Given the description of an element on the screen output the (x, y) to click on. 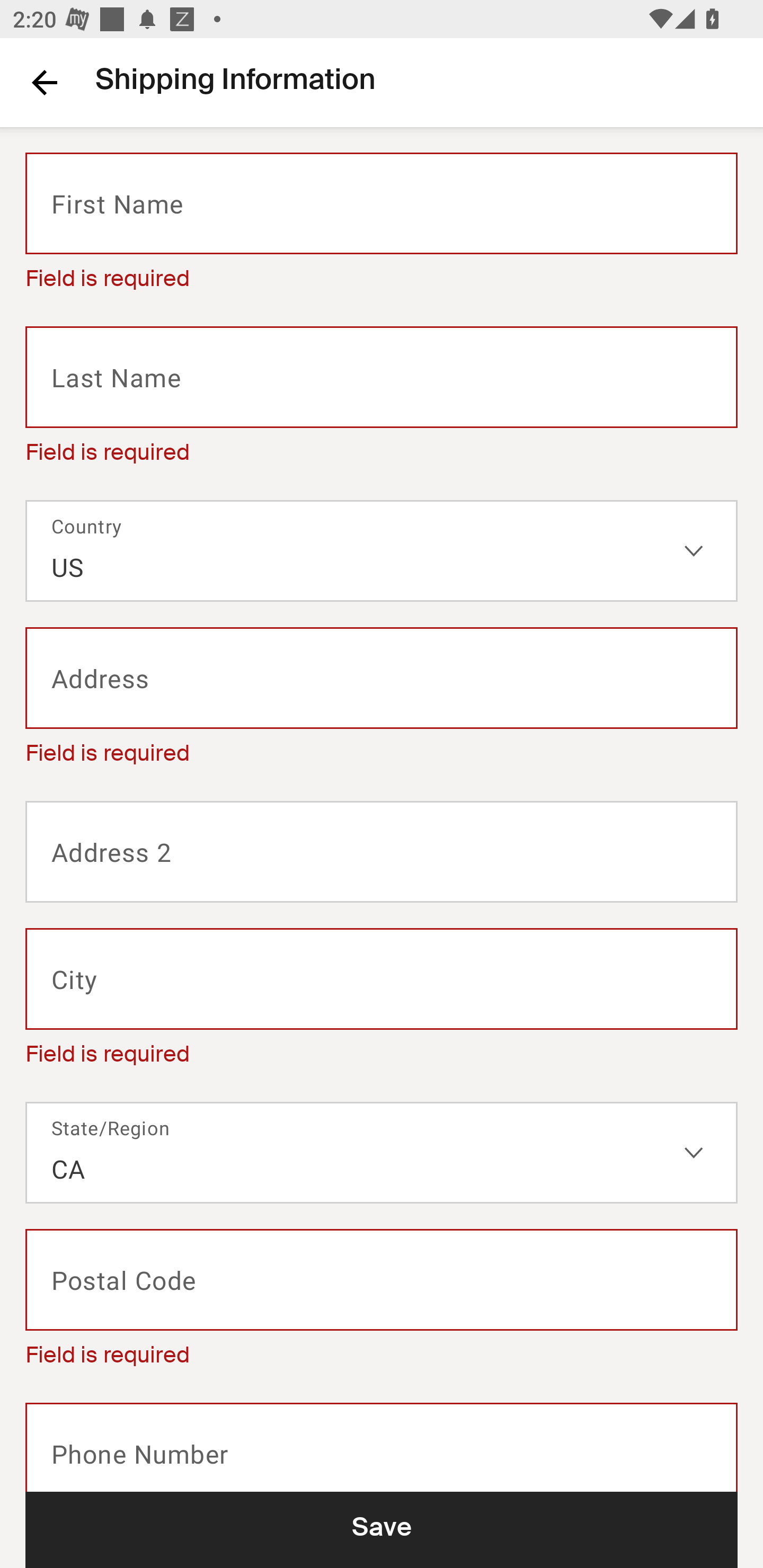
Navigate up (44, 82)
First Name Field is required (381, 226)
Last Name Field is required (381, 400)
Address Field is required (381, 701)
Address 2 (381, 852)
City Field is required (381, 1001)
Postal Code Field is required (381, 1302)
Phone Number (381, 1447)
Save (381, 1529)
